Given the description of an element on the screen output the (x, y) to click on. 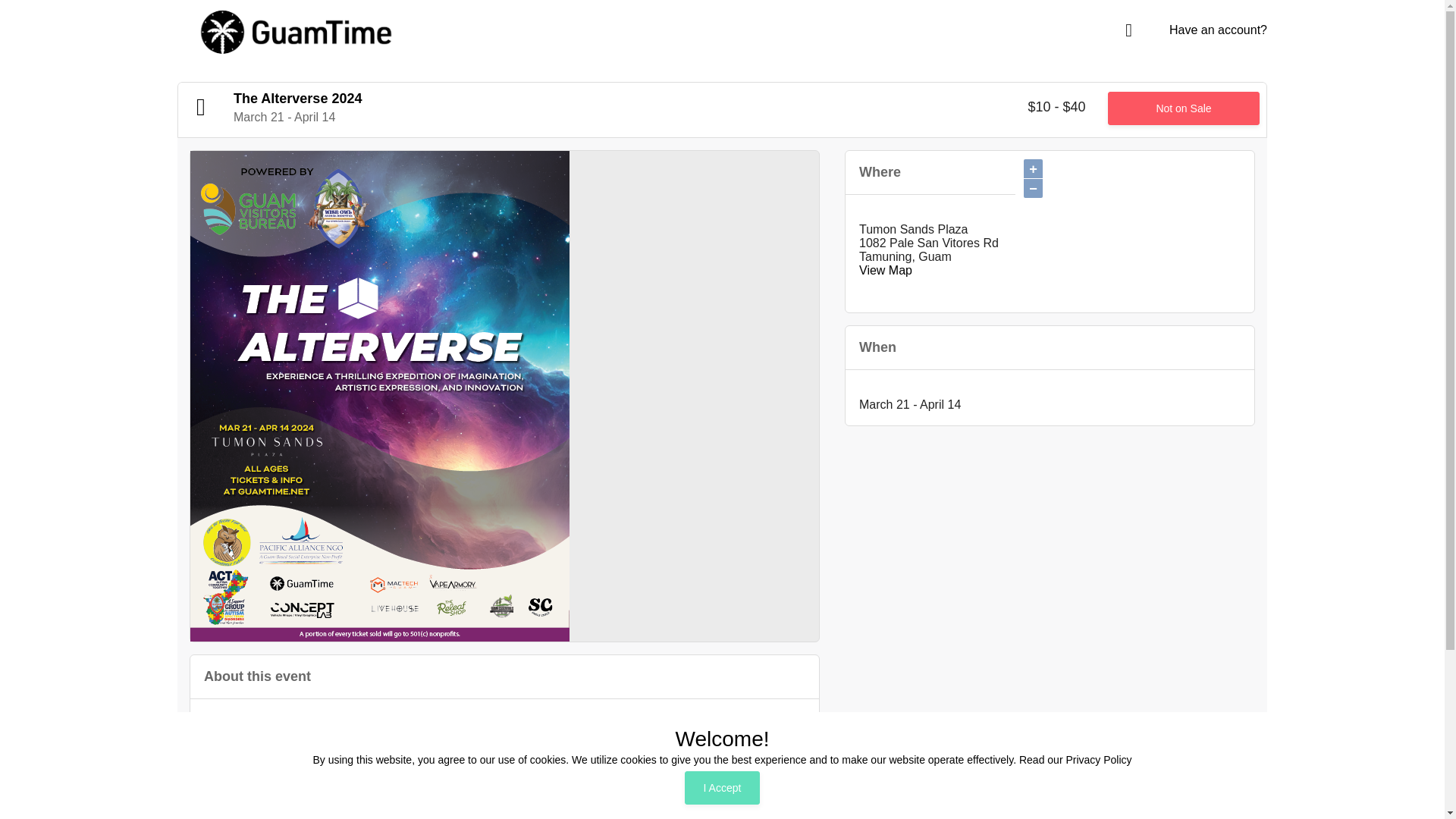
Not on Sale (1183, 108)
Zoom out (1032, 188)
I Accept (722, 787)
View Map (885, 269)
Read our Privacy Policy (1075, 759)
Zoom in (1032, 168)
Have an account? (1214, 30)
